Given the description of an element on the screen output the (x, y) to click on. 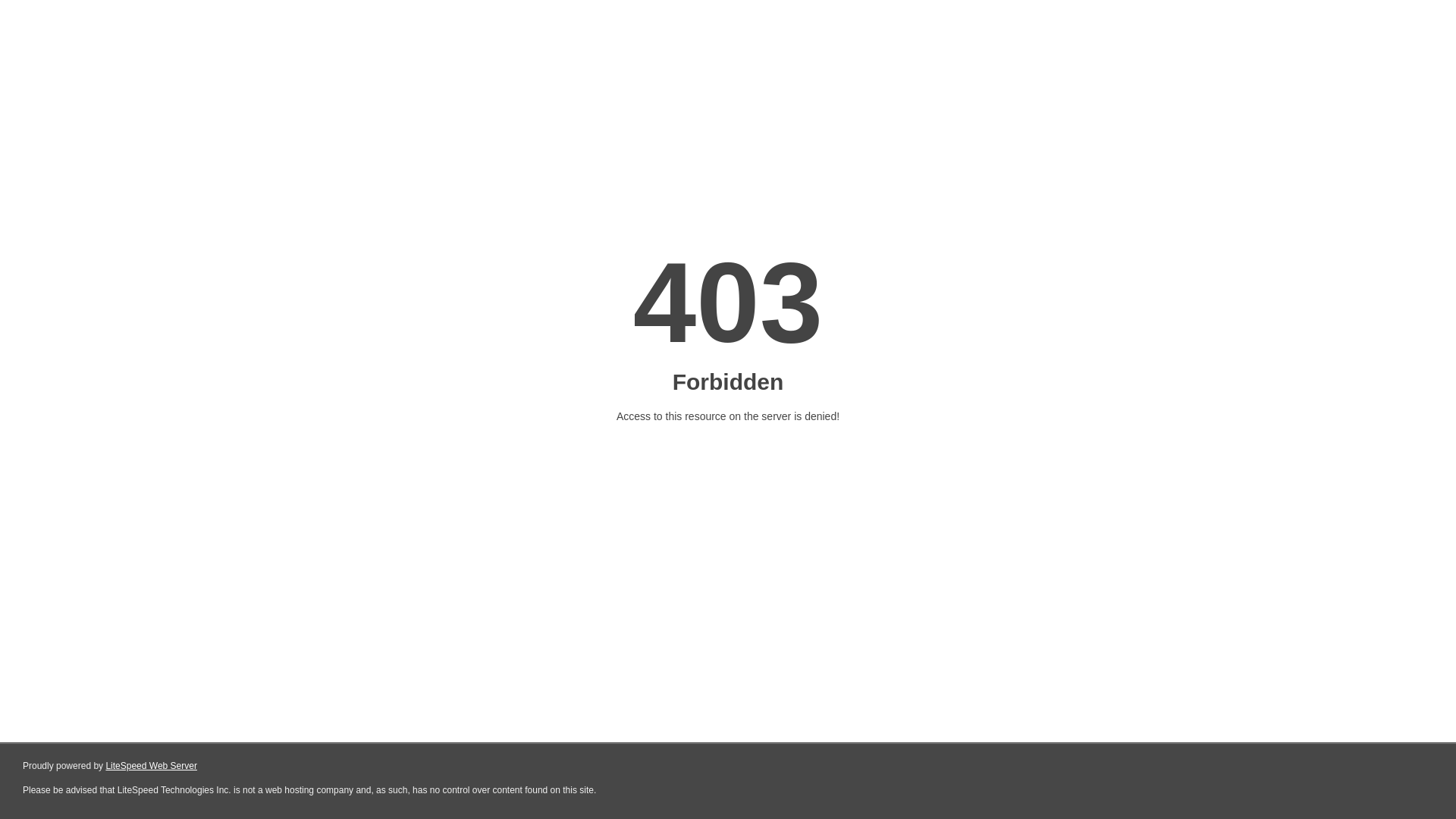
LiteSpeed Web Server Element type: text (151, 765)
